Given the description of an element on the screen output the (x, y) to click on. 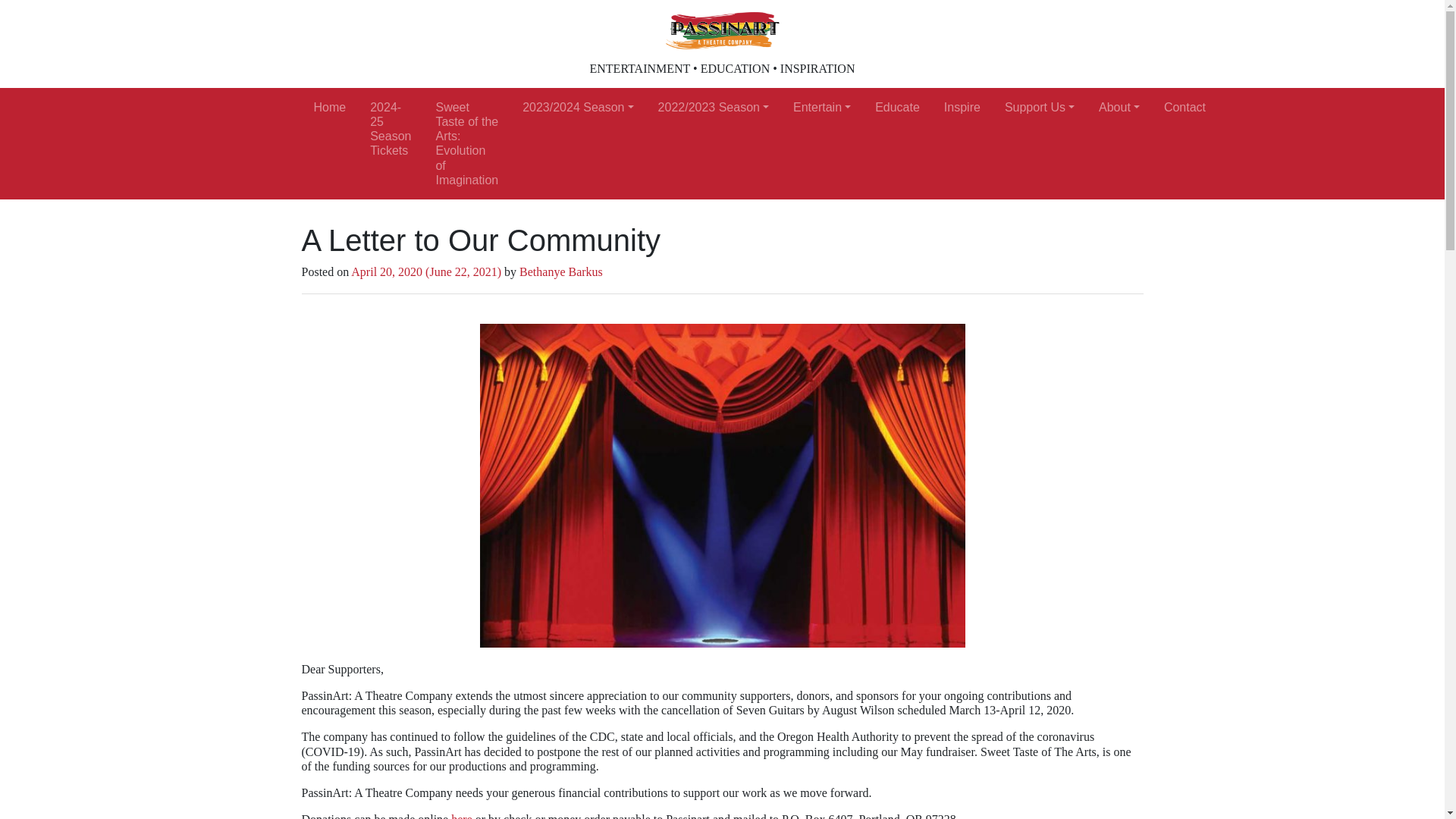
Educate (897, 106)
Inspire (961, 106)
Support Us (1039, 106)
Contact (1184, 106)
Bethanye Barkus (560, 271)
Entertain (821, 106)
About (1118, 106)
Home (329, 106)
Home (329, 106)
